Given the description of an element on the screen output the (x, y) to click on. 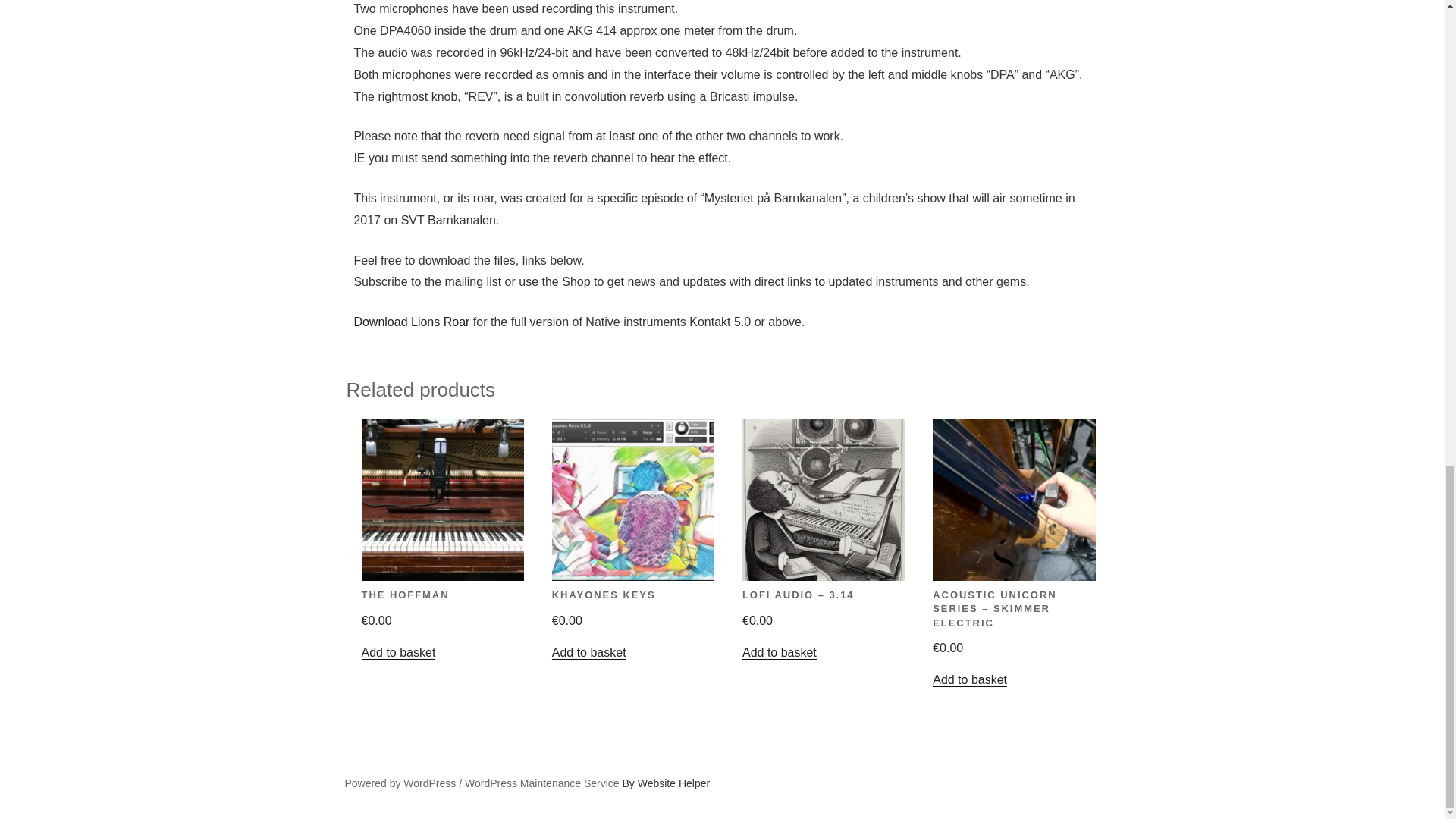
WordPress Maintenance Service (542, 783)
Add to basket (970, 679)
Add to basket (398, 652)
Add to basket (588, 652)
Download Lions Roar (410, 321)
Add to basket (779, 652)
